Given the description of an element on the screen output the (x, y) to click on. 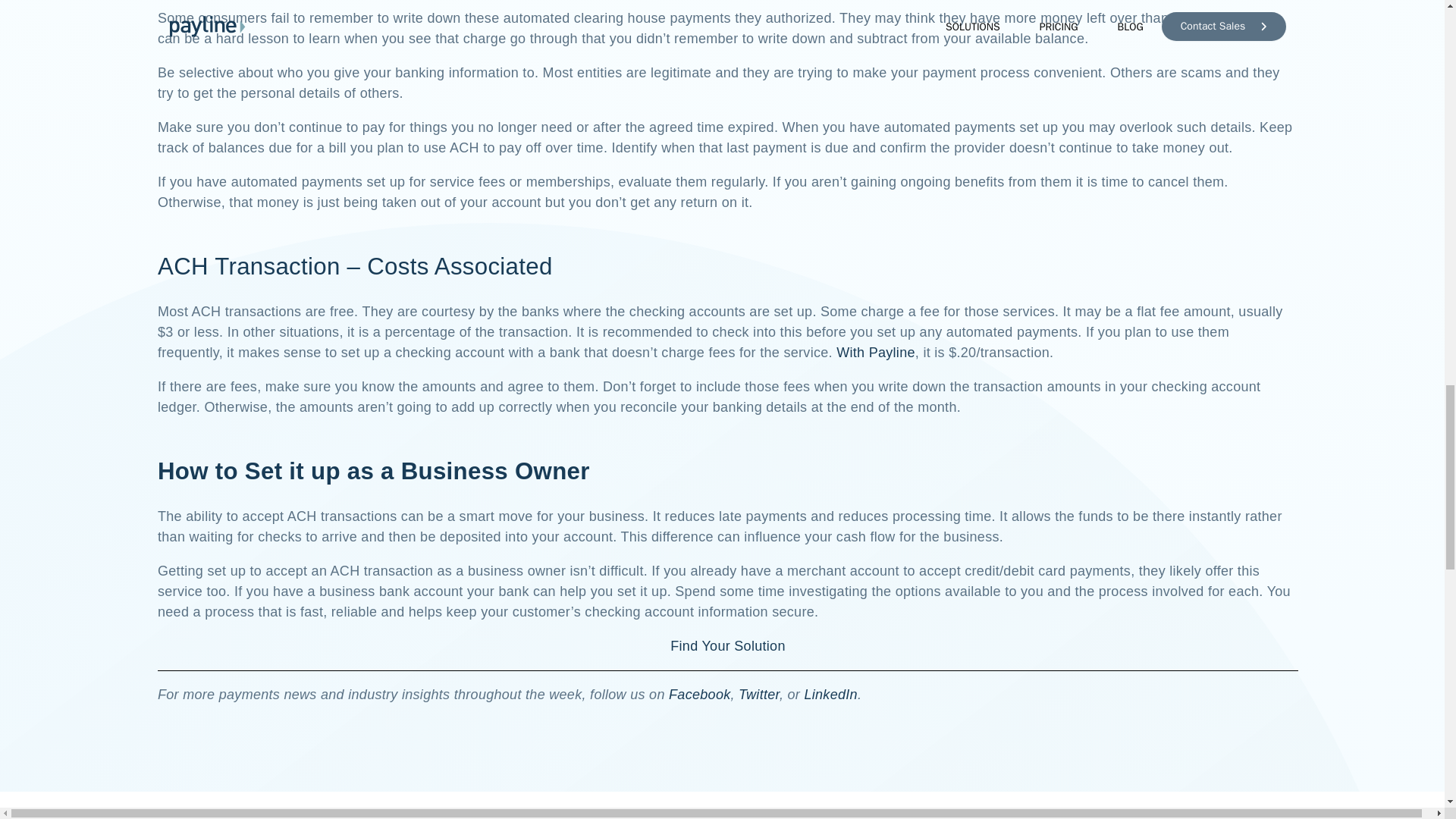
Find Your Solution (727, 645)
Twitter (758, 694)
LinkedIn (830, 694)
With Payline (875, 352)
Facebook (699, 694)
